Given the description of an element on the screen output the (x, y) to click on. 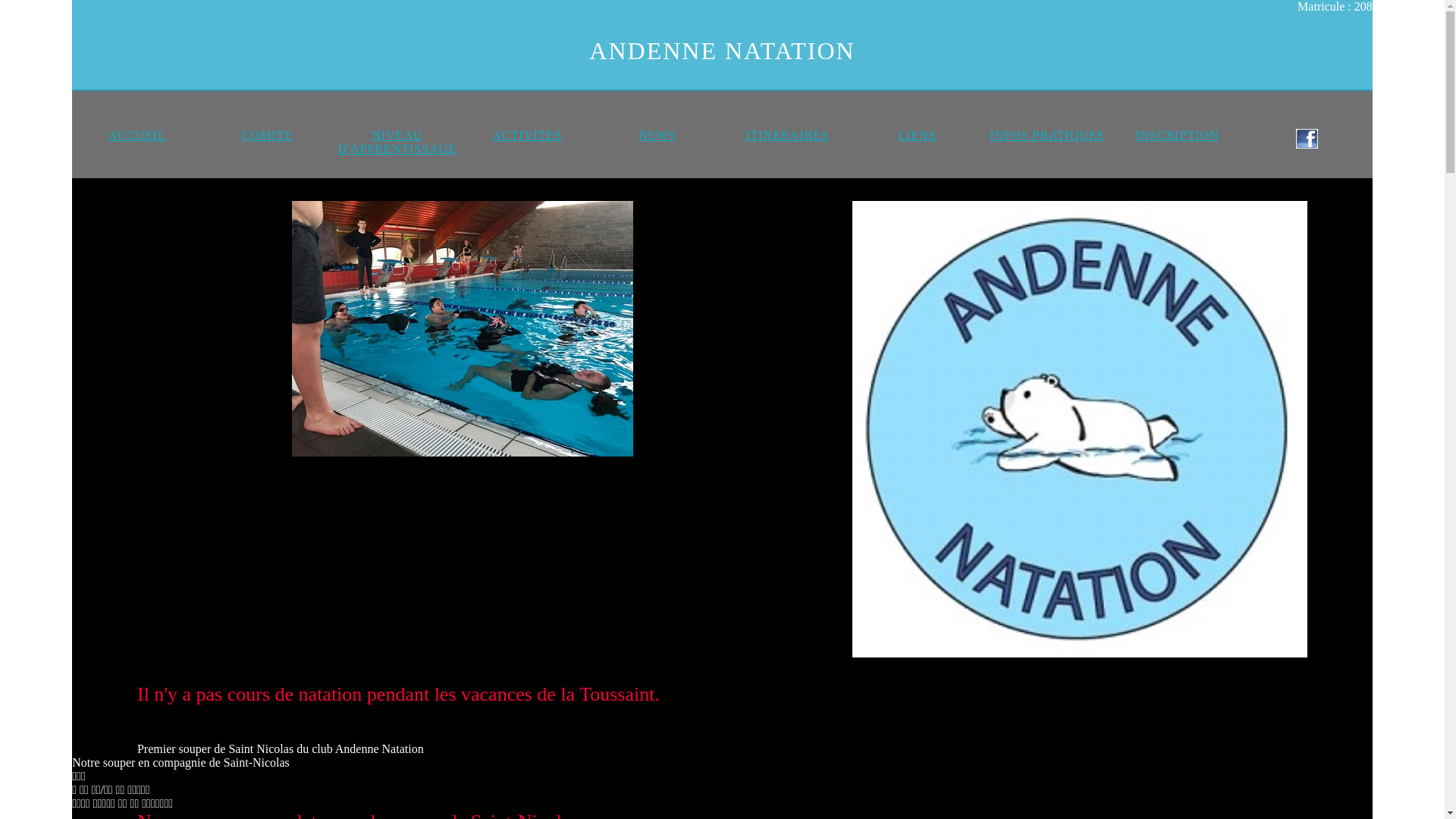
NEWS Element type: text (656, 134)
COMITE Element type: text (266, 134)
ACCUEIL Element type: text (137, 134)
INFOS PRATIQUES Element type: text (1046, 134)
NIVEAU D'APPRENTISSAGE Element type: text (397, 141)
ITINERAIRES Element type: text (786, 134)
LIENS Element type: text (916, 134)
INSCRIPTION Element type: text (1177, 134)
ACTIVITES Element type: text (526, 134)
